Given the description of an element on the screen output the (x, y) to click on. 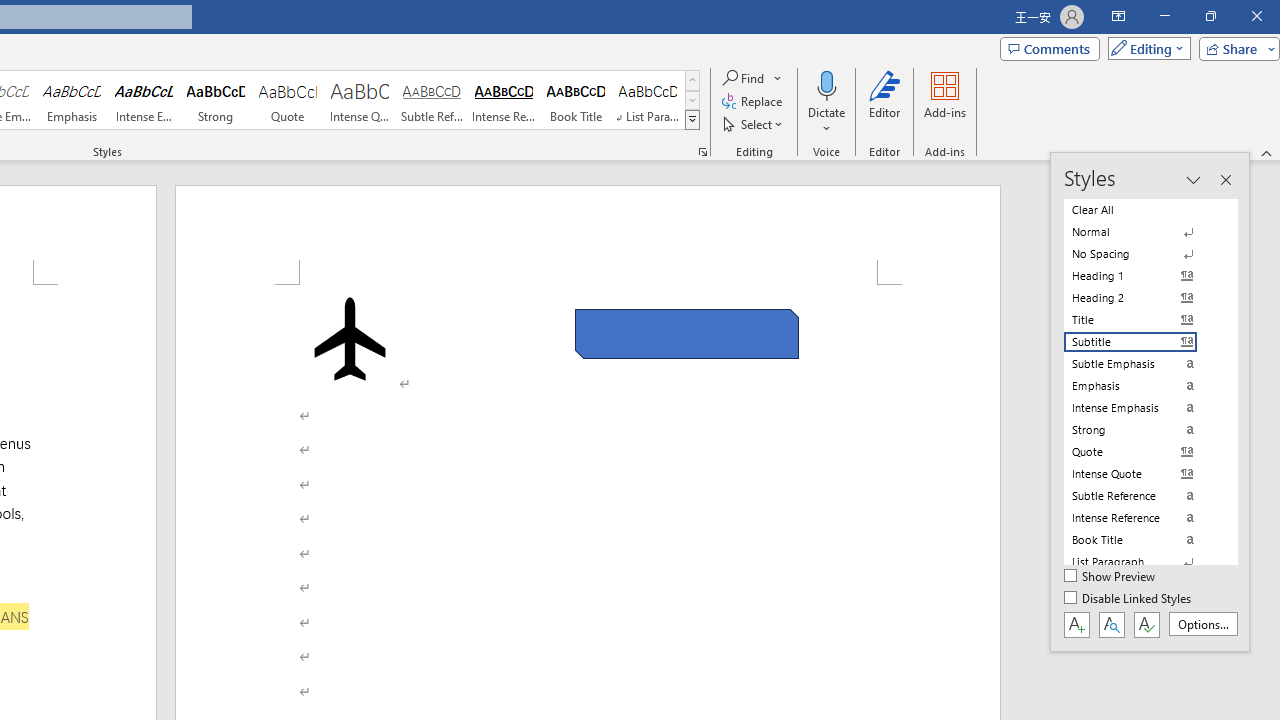
List Paragraph (1142, 561)
Intense Reference (504, 100)
Emphasis (71, 100)
Options... (1202, 623)
